Given the description of an element on the screen output the (x, y) to click on. 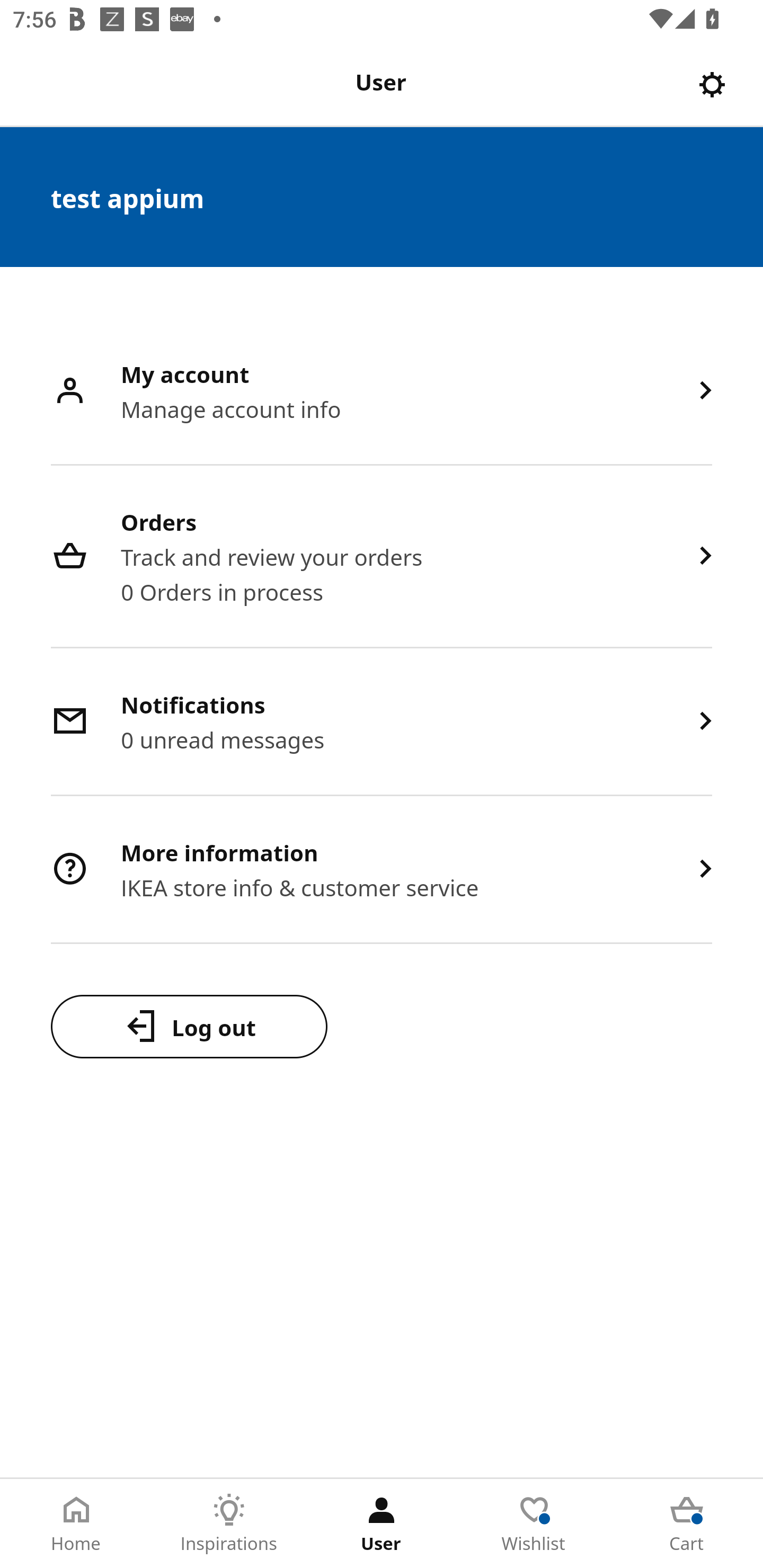
My account
Manage account info (381, 391)
Notifications
0 unread messages (381, 722)
Log out (189, 1026)
Home
Tab 1 of 5 (76, 1522)
Inspirations
Tab 2 of 5 (228, 1522)
User
Tab 3 of 5 (381, 1522)
Wishlist
Tab 4 of 5 (533, 1522)
Cart
Tab 5 of 5 (686, 1522)
